Given the description of an element on the screen output the (x, y) to click on. 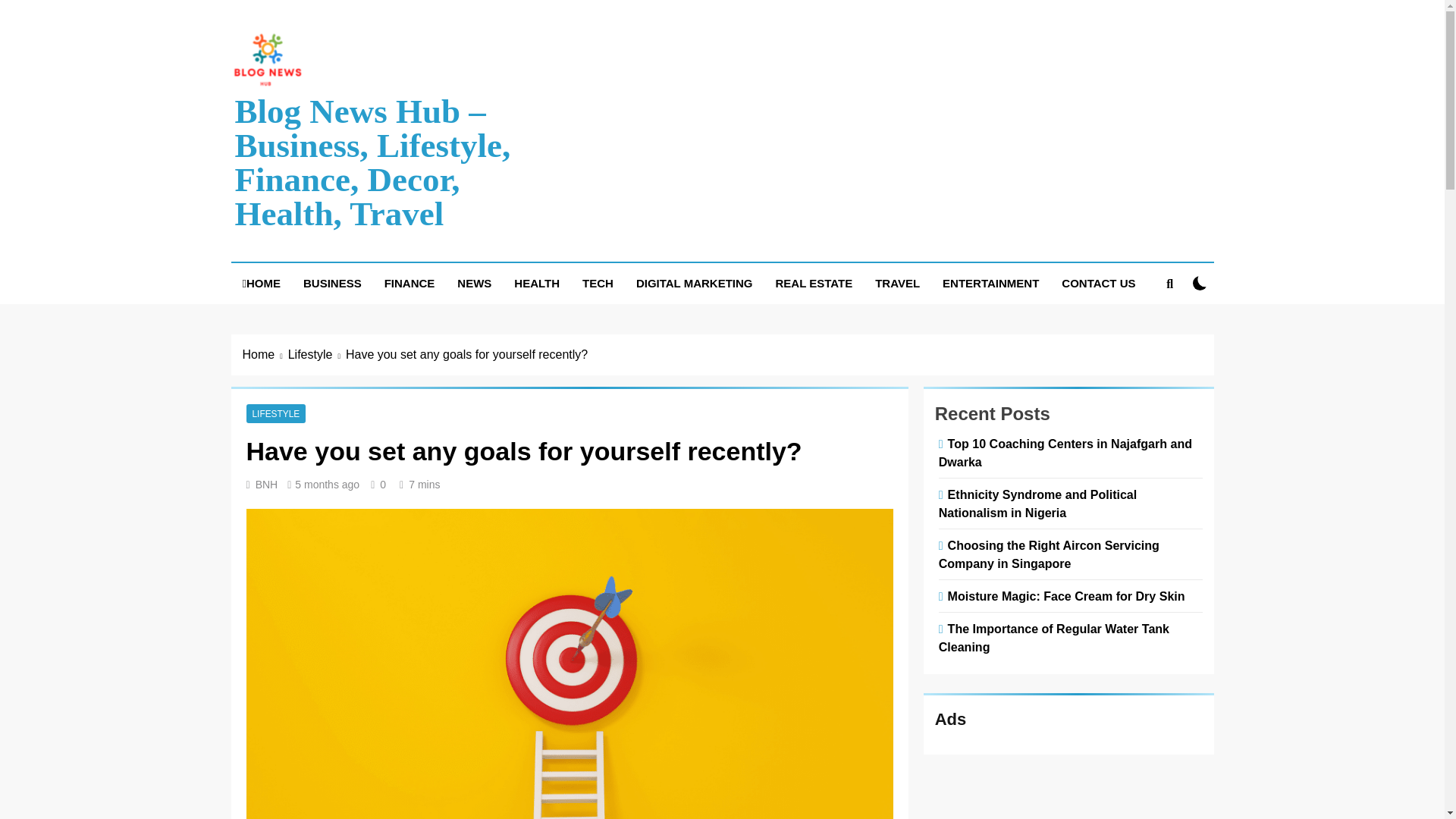
BNH (267, 484)
NEWS (473, 282)
HOME (260, 282)
DIGITAL MARKETING (694, 282)
CONTACT US (1098, 282)
Top 10 Coaching Centers in Najafgarh and Dwarka (1065, 452)
Home (265, 354)
FINANCE (409, 282)
TRAVEL (897, 282)
5 months ago (327, 484)
Lifestyle (317, 354)
LIFESTYLE (275, 412)
TECH (597, 282)
on (1199, 283)
BUSINESS (332, 282)
